Given the description of an element on the screen output the (x, y) to click on. 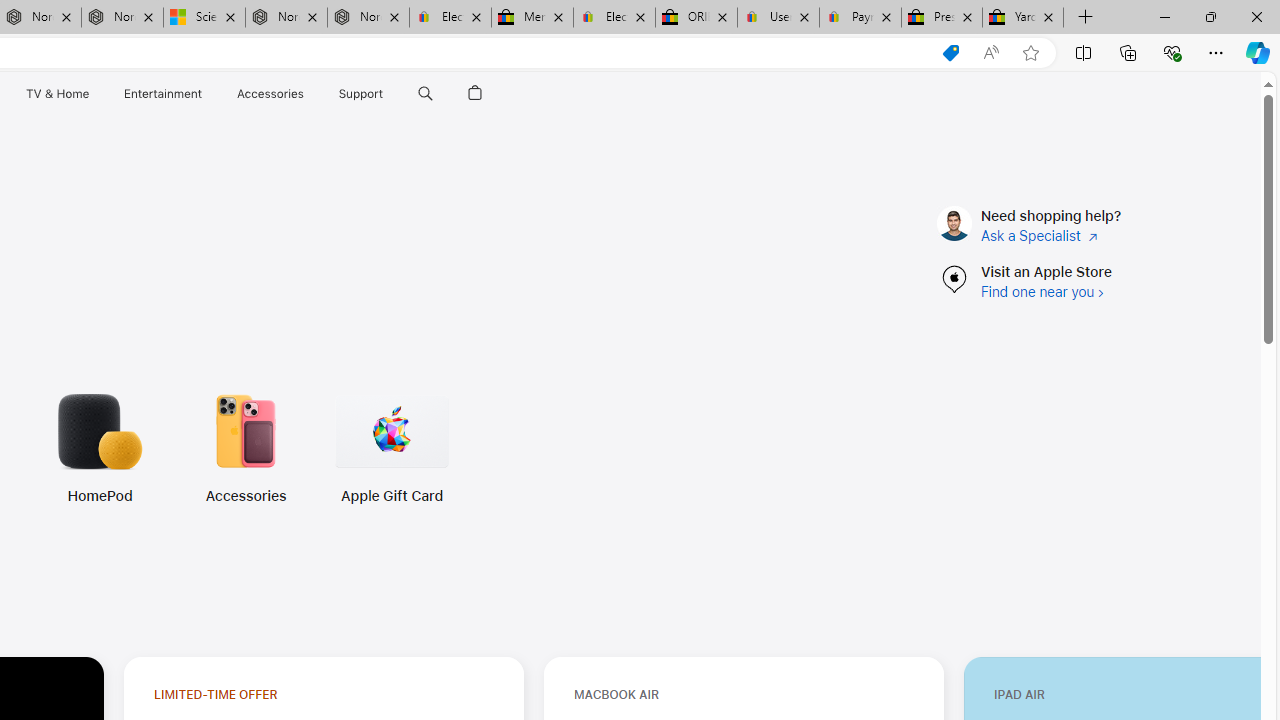
TV & Home (56, 93)
Accessories (245, 496)
Accessories (111, 447)
Payments Terms of Use | eBay.com (860, 17)
Class: globalnav-item globalnav-search shift-0-1 (425, 93)
